Given the description of an element on the screen output the (x, y) to click on. 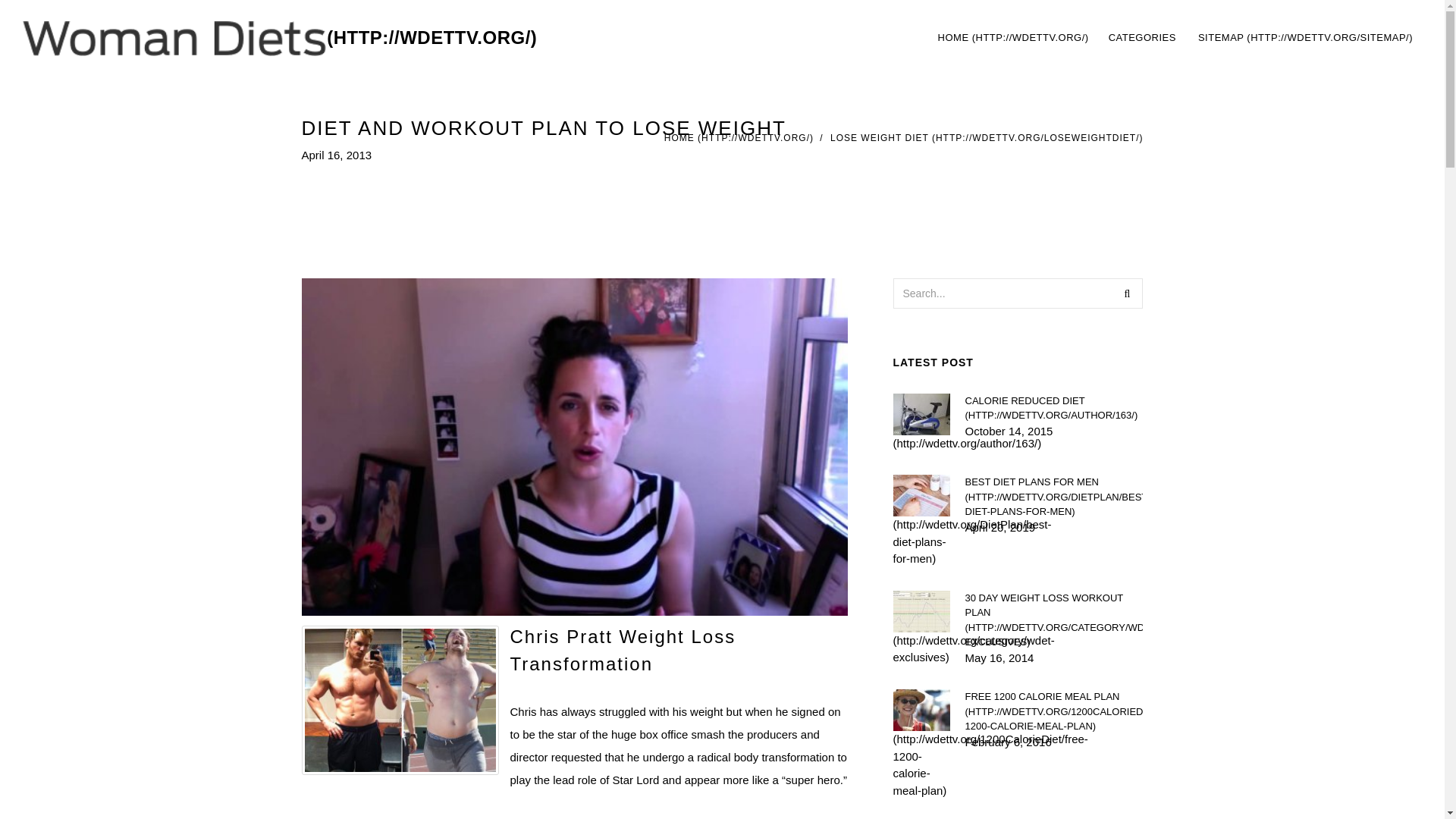
SITEMAP (1305, 38)
Woman Diets (280, 38)
BEST DIET PLANS FOR MEN (1052, 497)
Search (1126, 292)
CALORIE REDUCED DIET (1052, 407)
HOME (1012, 38)
30 DAY WEIGHT LOSS WORKOUT PLAN (1052, 619)
HOME (738, 137)
CATEGORIES (1174, 38)
FREE 1200 CALORIE MEAL PLAN (1143, 38)
LOSE WEIGHT DIET (1052, 711)
